Given the description of an element on the screen output the (x, y) to click on. 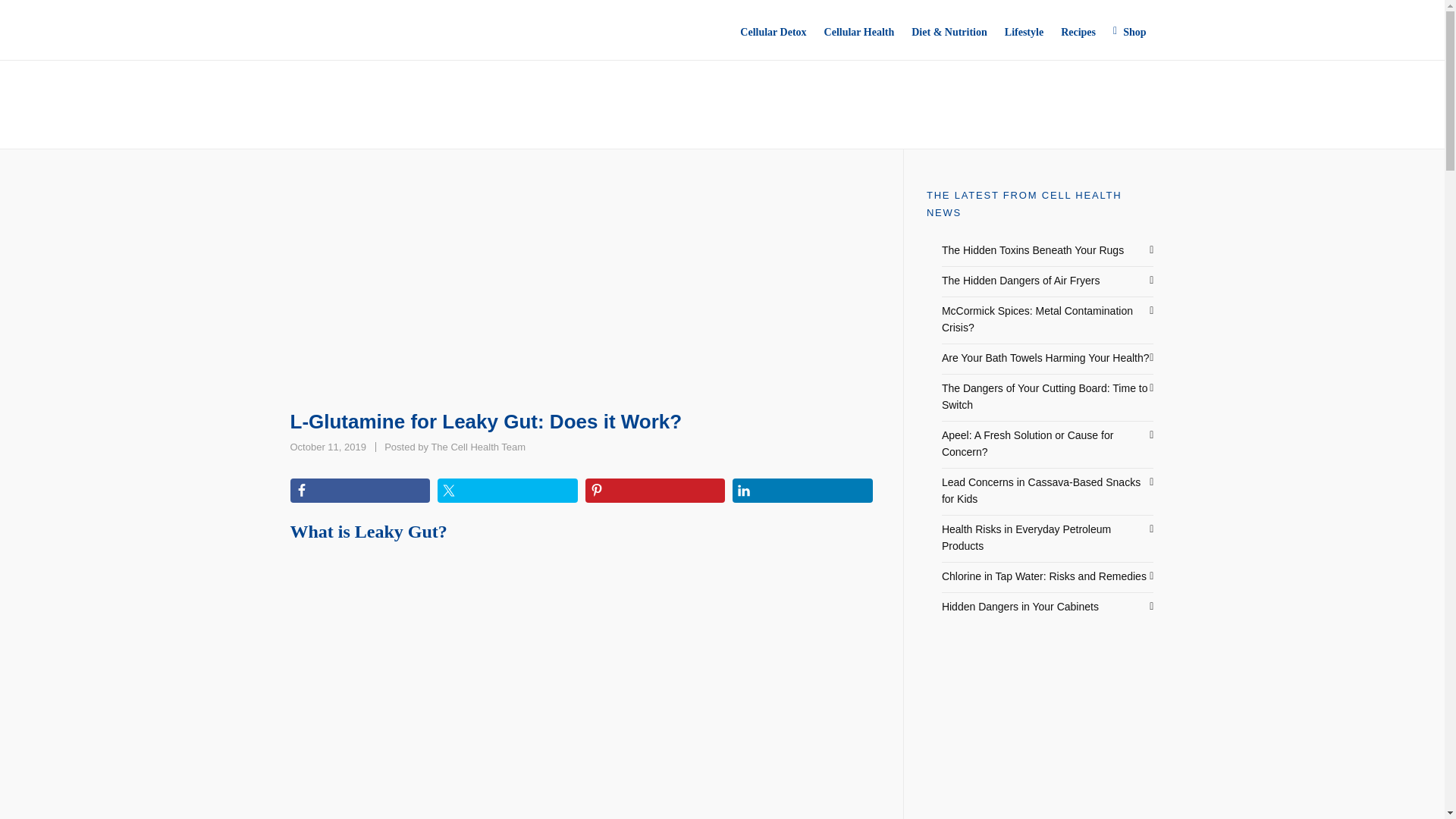
Are Your Bath Towels Harming Your Health? (1046, 357)
Home (303, 117)
Articles (347, 117)
Cellular Detox (772, 30)
Share on Facebook (359, 490)
The Cell Health Team (477, 446)
Share on LinkedIn (477, 446)
The Hidden Toxins Beneath Your Rugs (802, 490)
Share on Twitter (1033, 250)
The Hidden Dangers of Air Fryers (508, 490)
Lifestyle (1021, 280)
McCormick Spices: Metal Contamination Crisis? (1023, 30)
Share on Pinterest (1037, 318)
Cellular Health (655, 490)
